Given the description of an element on the screen output the (x, y) to click on. 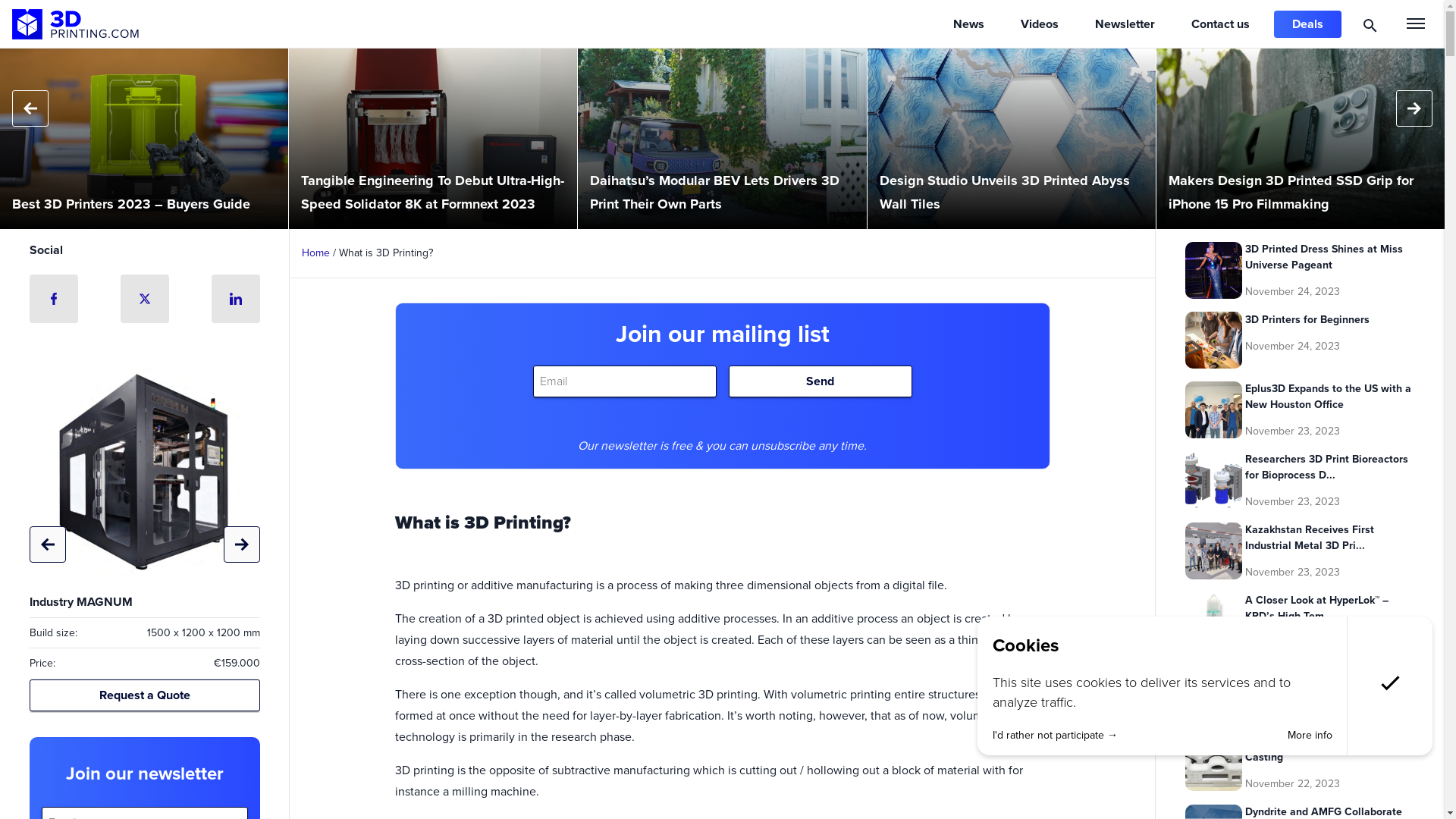
Design Studio Unveils 3D Printed Abyss Wall Tiles Element type: text (1011, 138)
Newsletter Element type: text (1124, 23)
News Element type: text (968, 23)
Home Element type: text (315, 252)
3D Printers for Beginners
November 24, 2023 Element type: text (1299, 339)
Deals Element type: text (1307, 23)
Videos Element type: text (1039, 23)
More info Element type: text (1309, 735)
Contact us Element type: text (1220, 23)
Request a Quote Element type: text (143, 695)
Send Element type: text (819, 381)
3D Printing Element type: hover (75, 24)
